Given the description of an element on the screen output the (x, y) to click on. 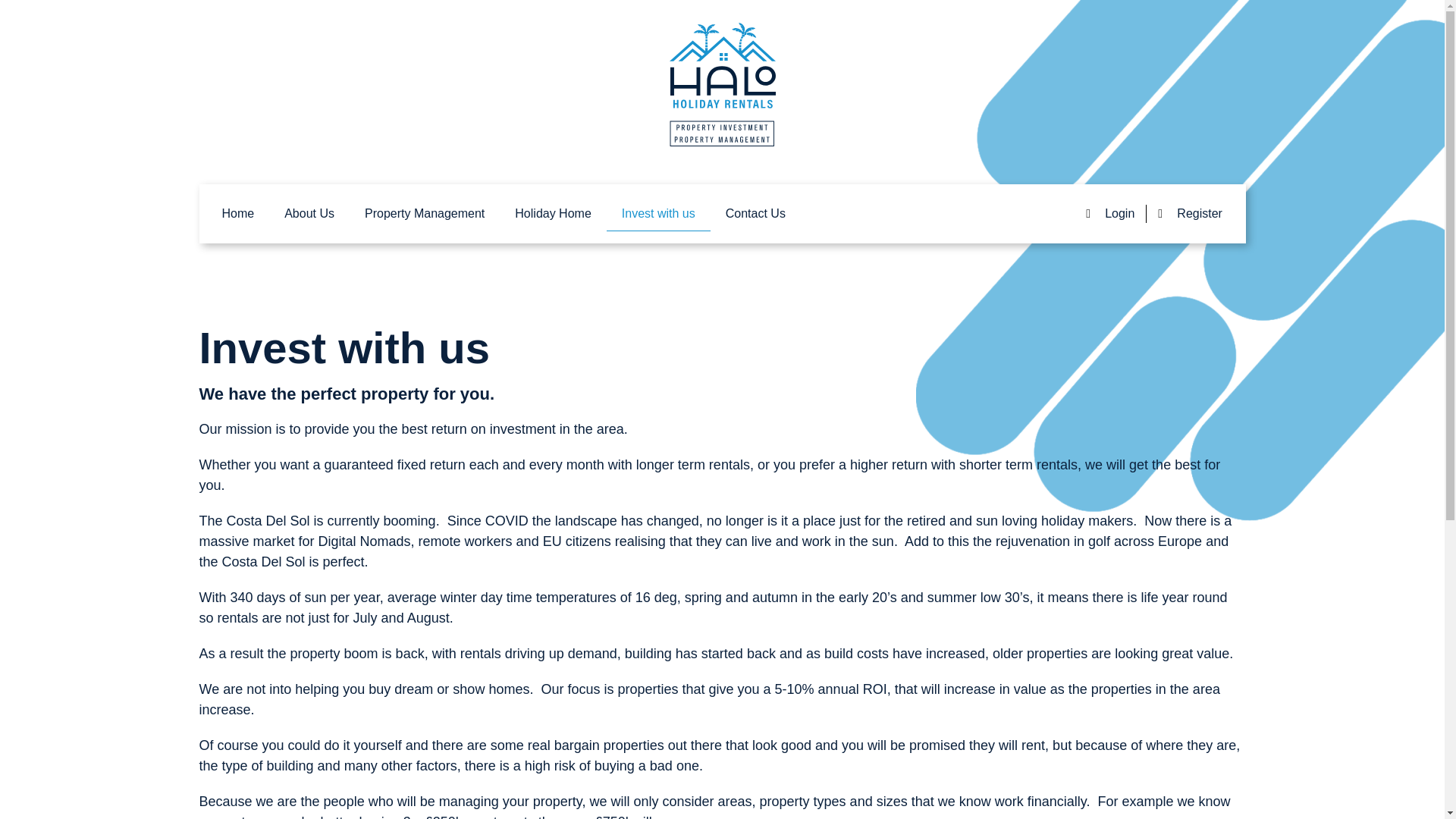
Invest with us (658, 213)
Holiday Home (552, 213)
Register (1190, 213)
Home (237, 213)
Contact Us (755, 213)
Property Management (424, 213)
Login (1110, 213)
About Us (309, 213)
